Given the description of an element on the screen output the (x, y) to click on. 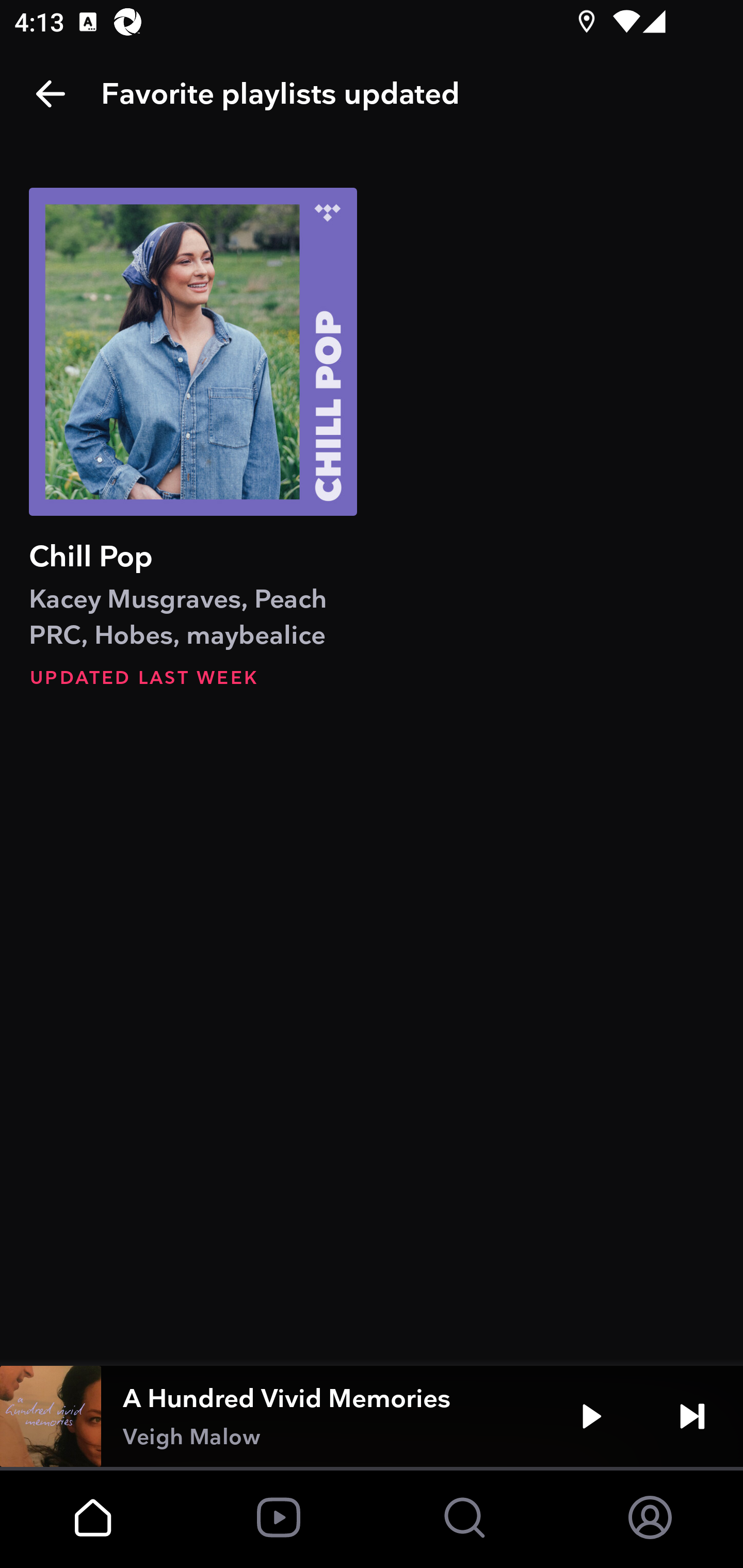
A Hundred Vivid Memories Veigh Malow Play (371, 1416)
Play (590, 1416)
